Given the description of an element on the screen output the (x, y) to click on. 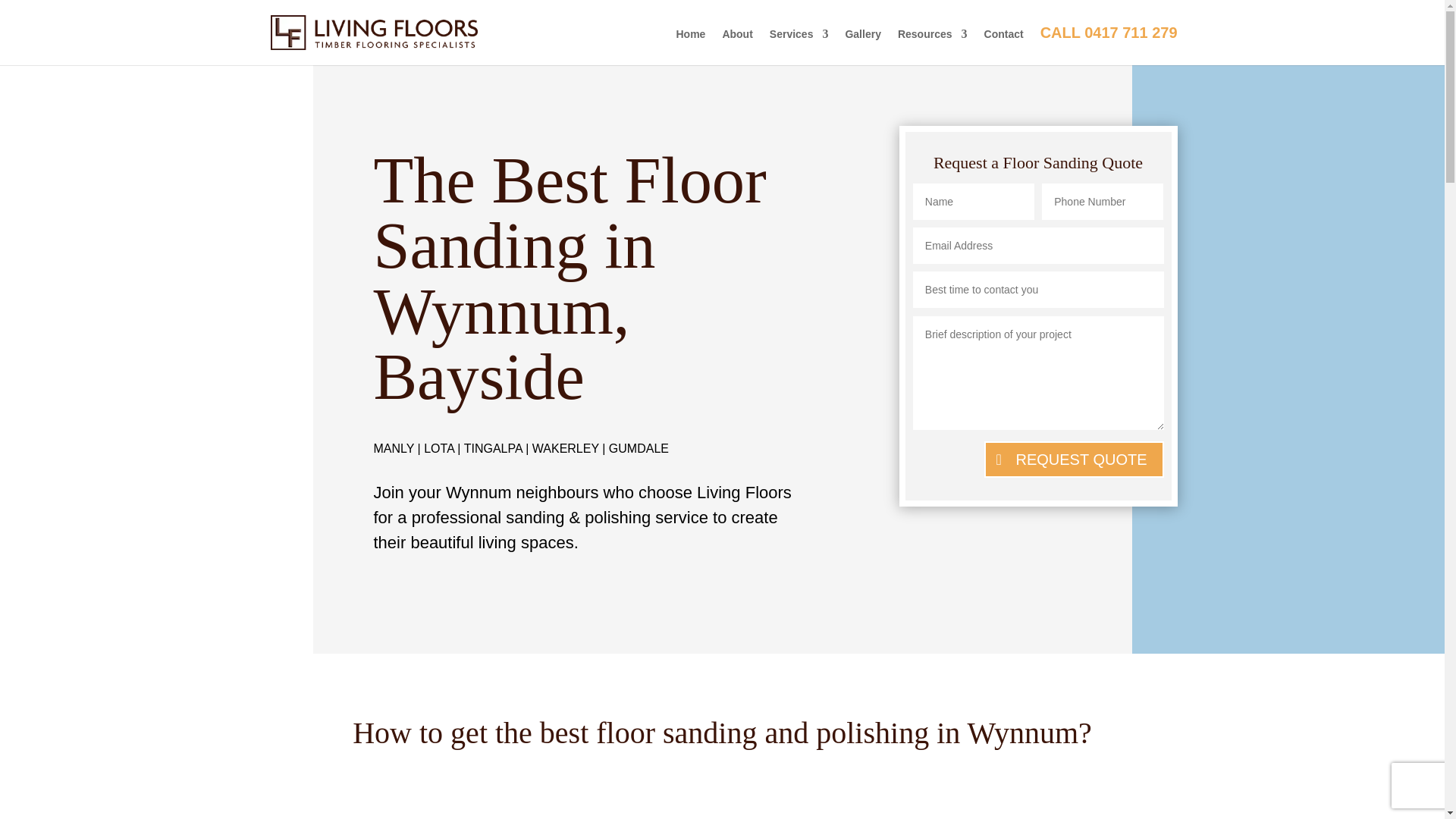
Gallery (862, 46)
Contact (1003, 46)
Resources (933, 46)
Services (799, 46)
REQUEST QUOTE (1073, 459)
CALL 0417 711 279 (1109, 45)
